Given the description of an element on the screen output the (x, y) to click on. 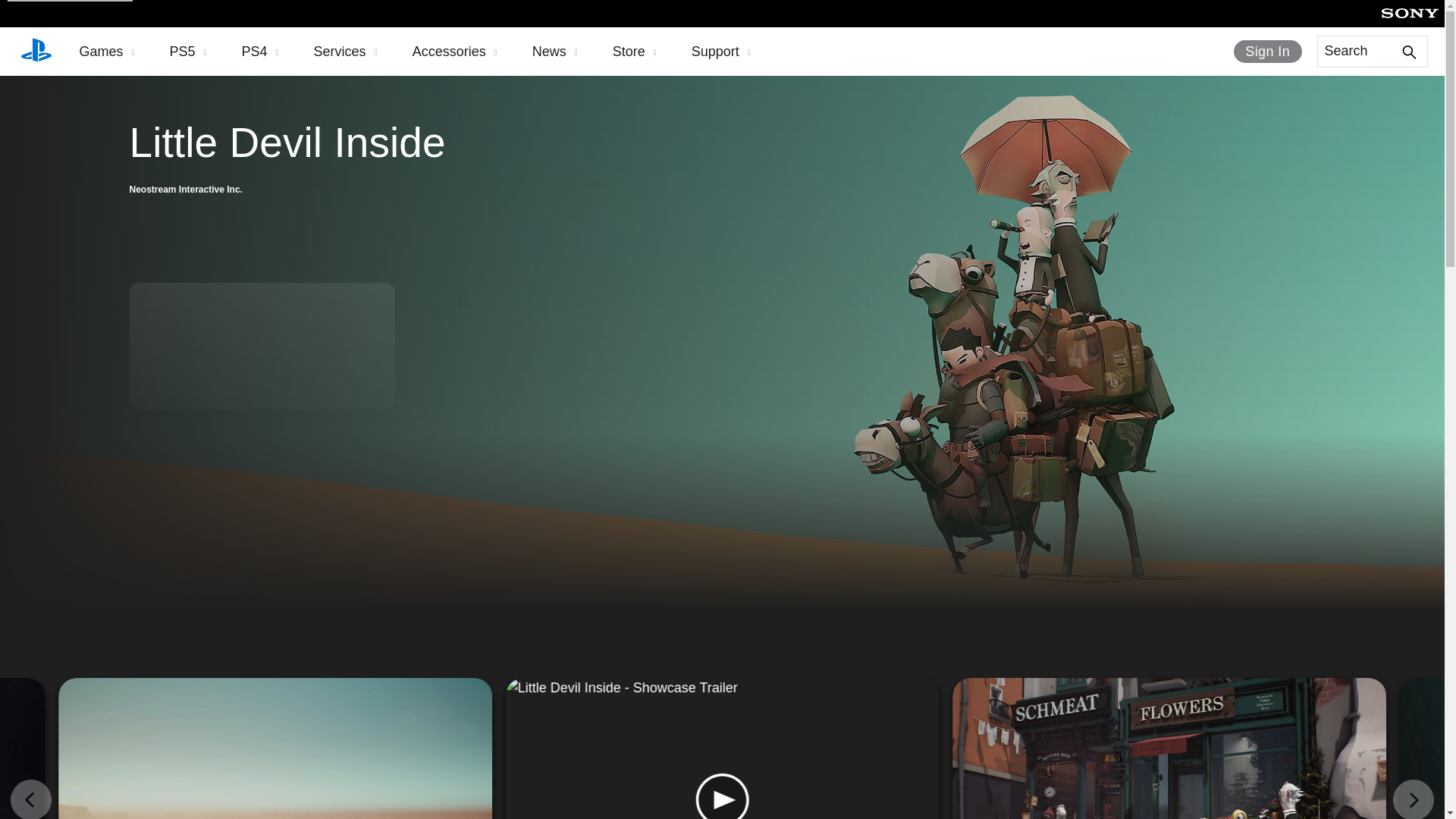
Skip to main content (69, 0)
PS5 (188, 51)
Games (106, 51)
Accessories (454, 51)
PS4 (260, 51)
Services (345, 51)
